Given the description of an element on the screen output the (x, y) to click on. 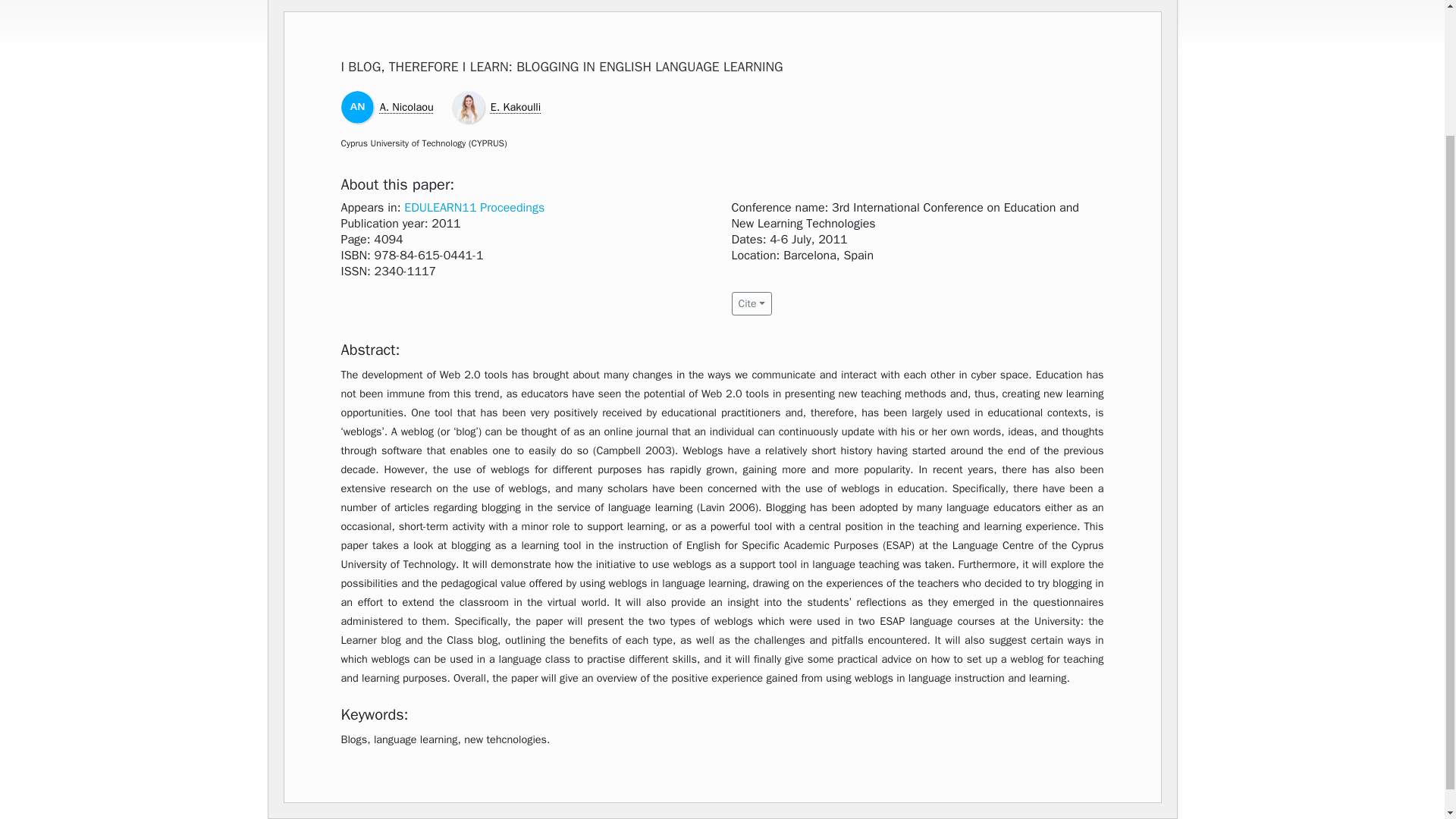
E. Kakoulli (515, 106)
Cite (750, 303)
A. Nicolaou (406, 106)
EDULEARN11 Proceedings (474, 207)
